Given the description of an element on the screen output the (x, y) to click on. 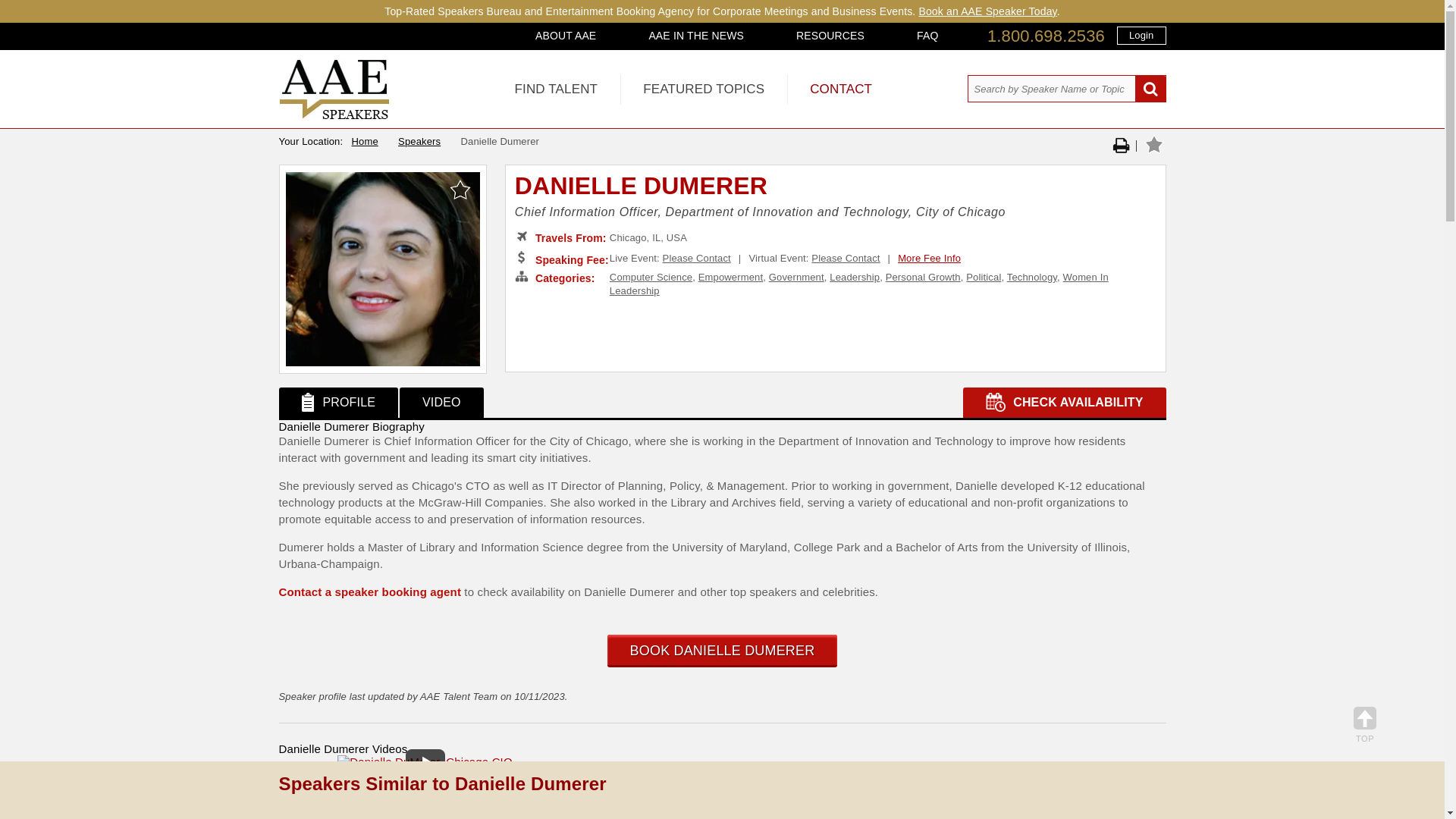
ABOUT AAE (565, 34)
1.800.698.2536 (1046, 35)
All American Speakers Bureau and Celebrity Booking Agency (334, 115)
AAE IN THE NEWS (695, 34)
Login (1141, 35)
RESOURCES (829, 34)
FAQ (927, 34)
Book an AAE Speaker Today (987, 10)
Search (1150, 89)
